Given the description of an element on the screen output the (x, y) to click on. 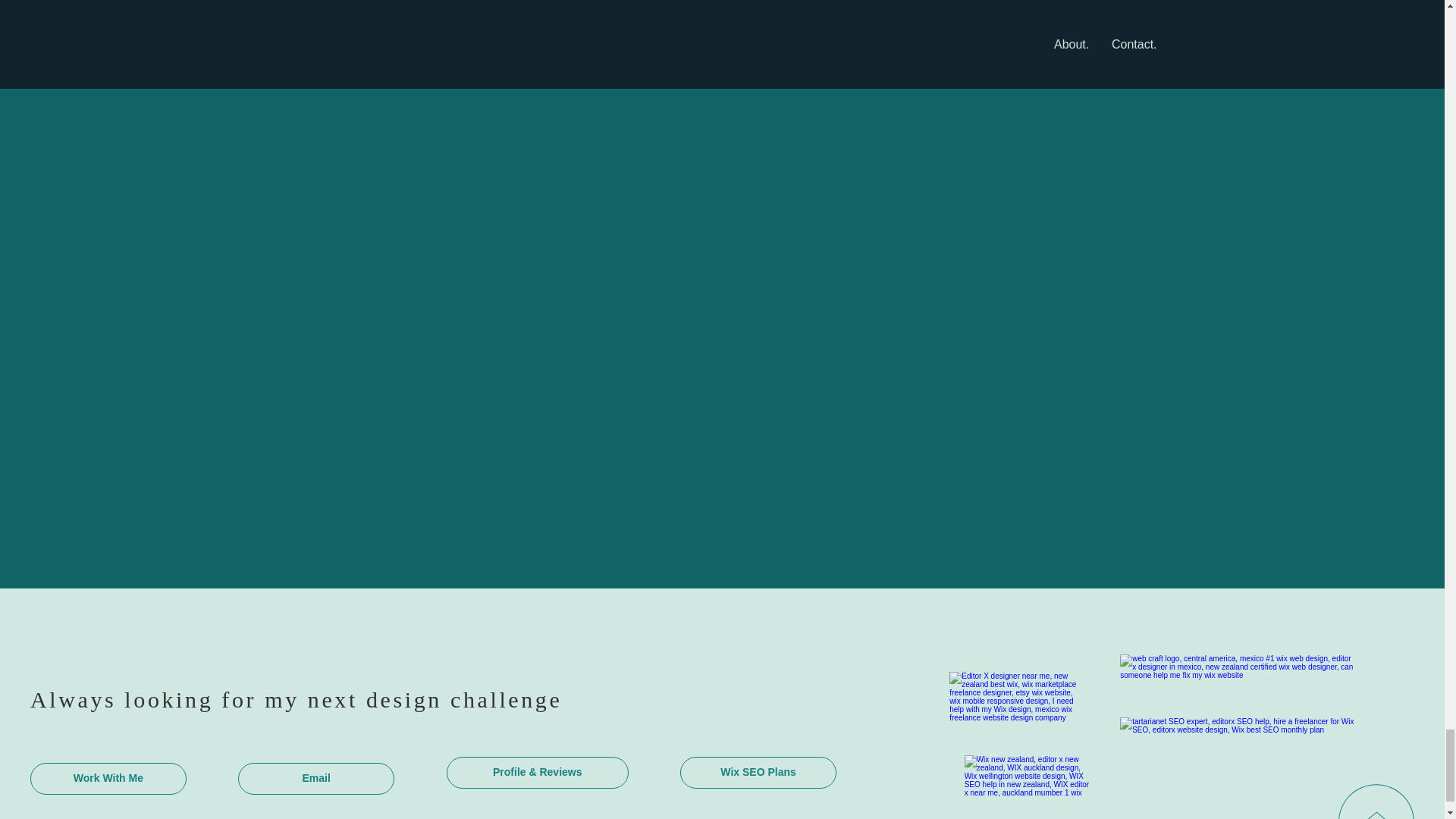
Email (316, 778)
Work With Me (108, 778)
Wix SEO Plans (757, 772)
